Given the description of an element on the screen output the (x, y) to click on. 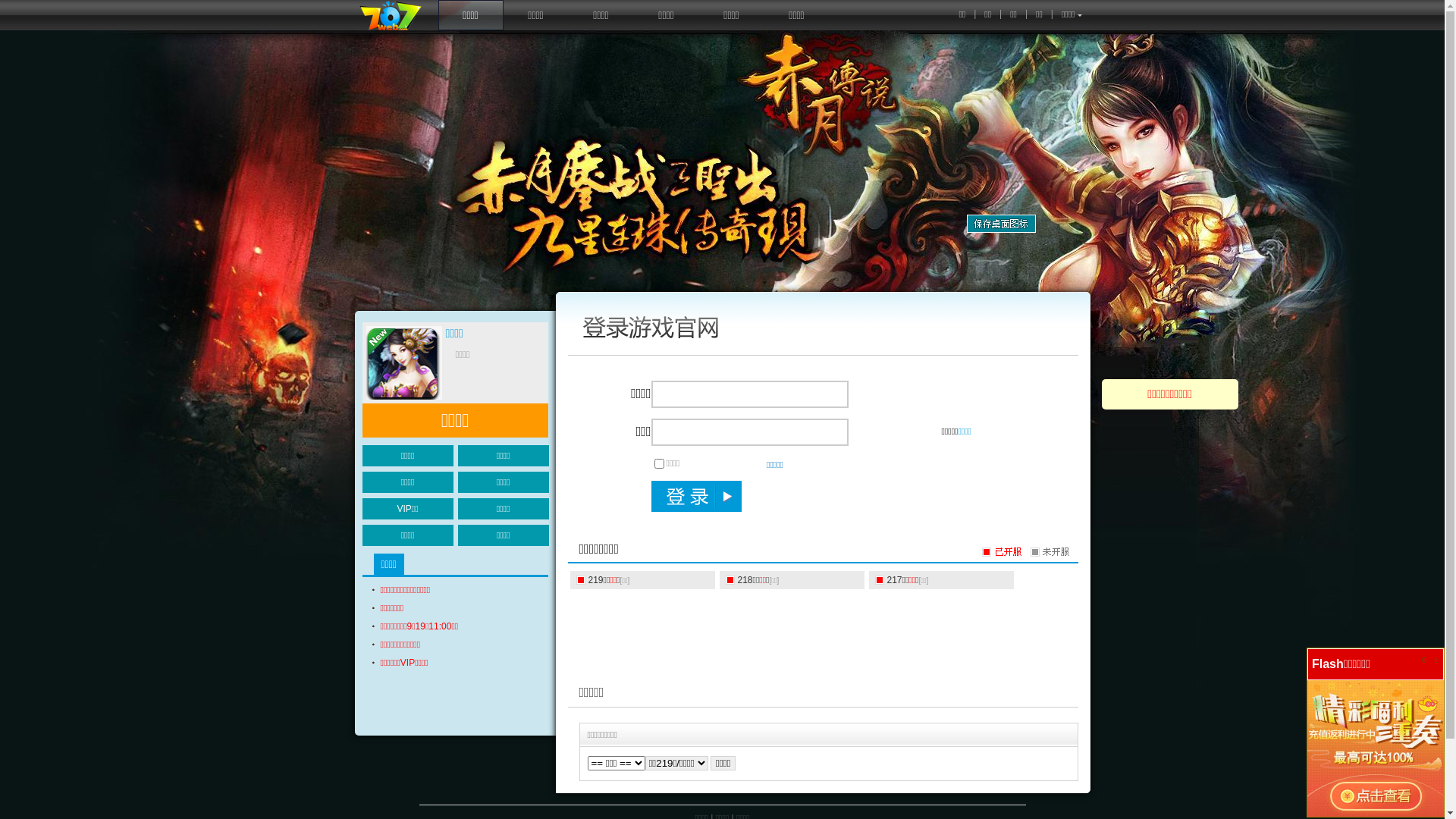
r Element type: text (1435, 659)
0 Element type: text (1423, 659)
